Given the description of an element on the screen output the (x, y) to click on. 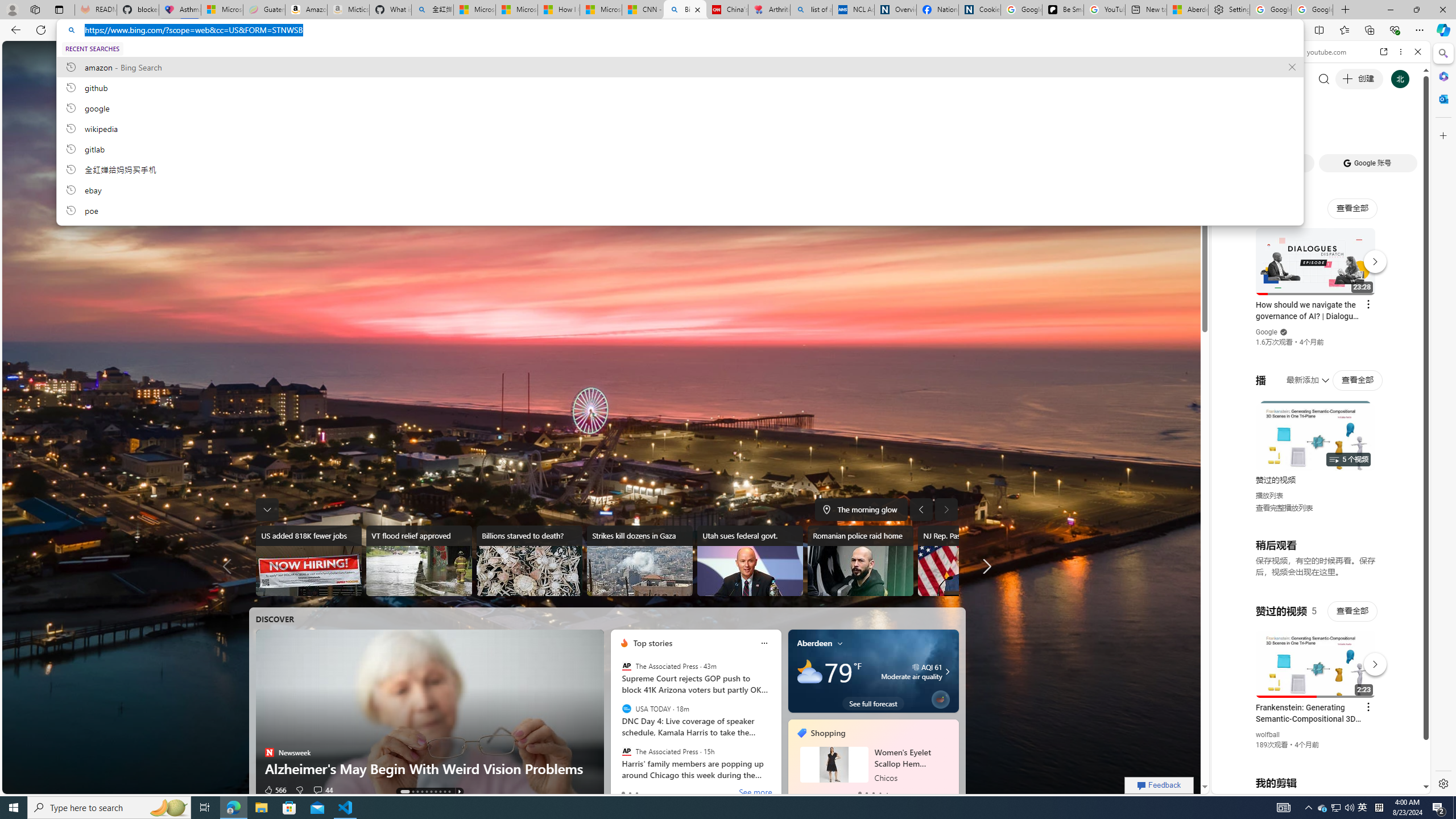
Search the web (1326, 78)
The Associated Press (626, 750)
This site scope (1259, 102)
Address and search bar (688, 29)
Maps (455, 53)
New Tab (1346, 9)
NCL Adult Asthma Inhaler Choice Guideline (853, 9)
tab-4 (887, 793)
